Given the description of an element on the screen output the (x, y) to click on. 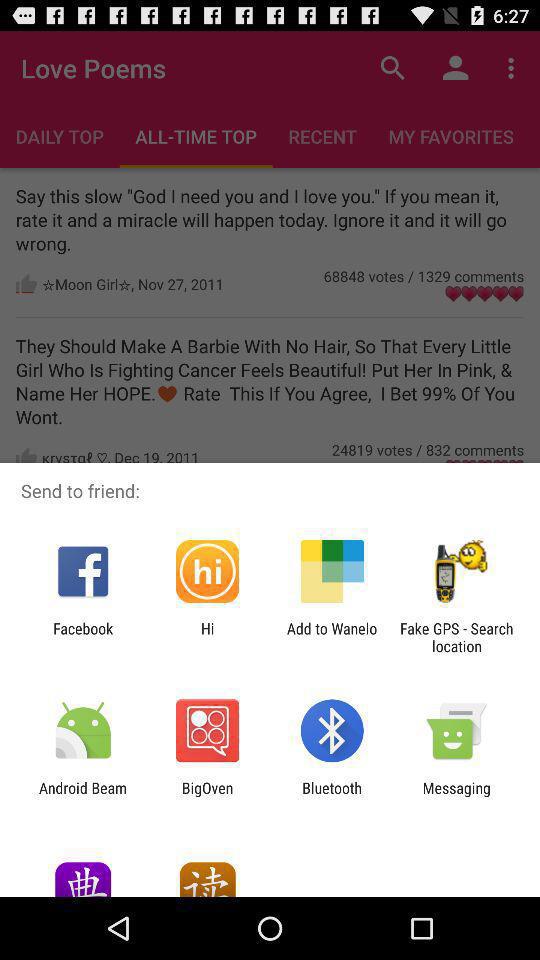
flip to the fake gps search app (456, 637)
